Given the description of an element on the screen output the (x, y) to click on. 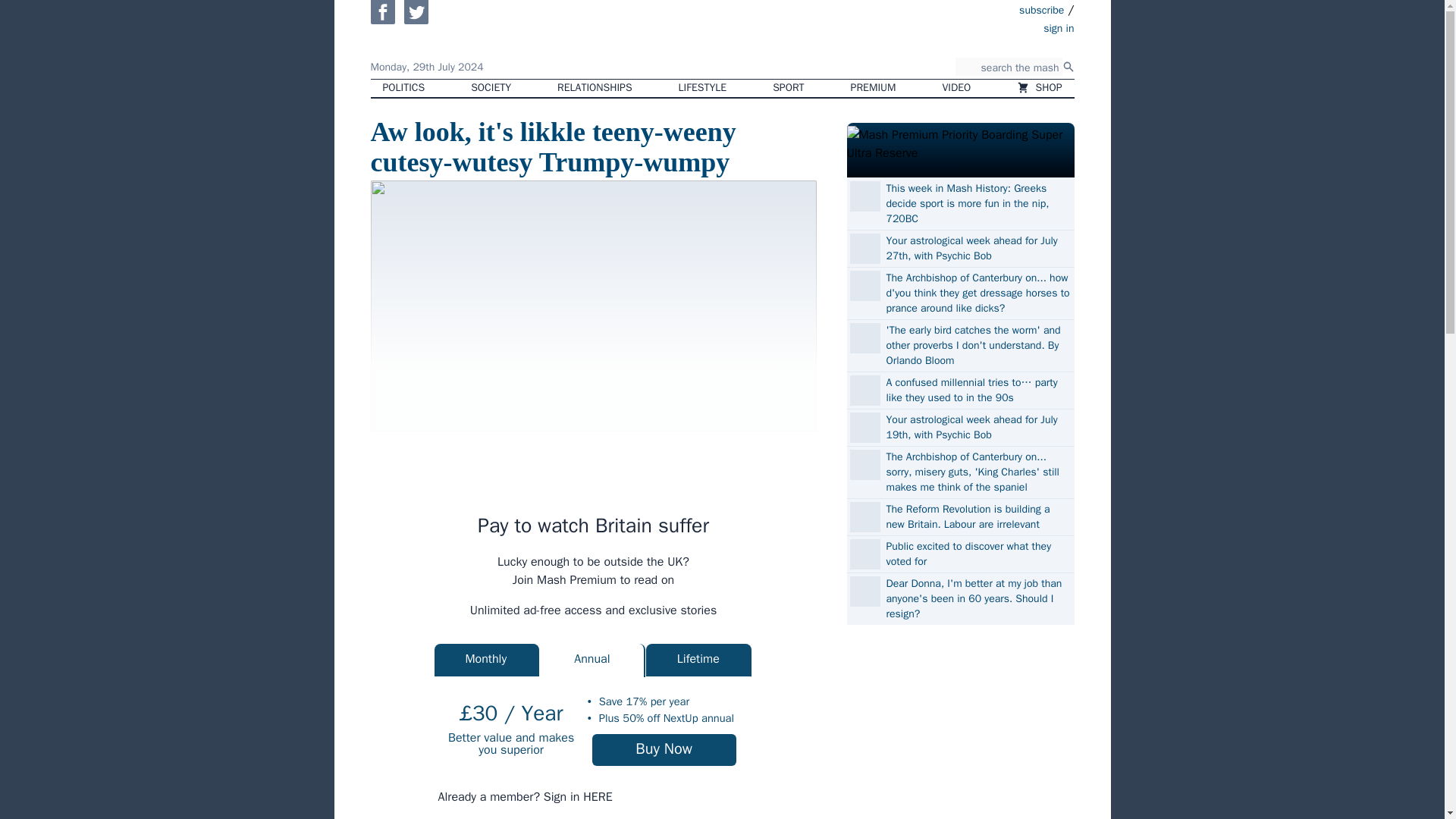
SOCIETY (490, 88)
subscribe (1041, 9)
Your astrological week ahead for July 27th, with Psychic Bob (977, 248)
PREMIUM (873, 88)
Your astrological week ahead for July 19th, with Psychic Bob (977, 427)
SHOP (1039, 88)
Buy Now (664, 749)
sign in (970, 27)
POLITICS (402, 88)
LIFESTYLE (702, 88)
SPORT (787, 88)
RELATIONSHIPS (593, 88)
